Given the description of an element on the screen output the (x, y) to click on. 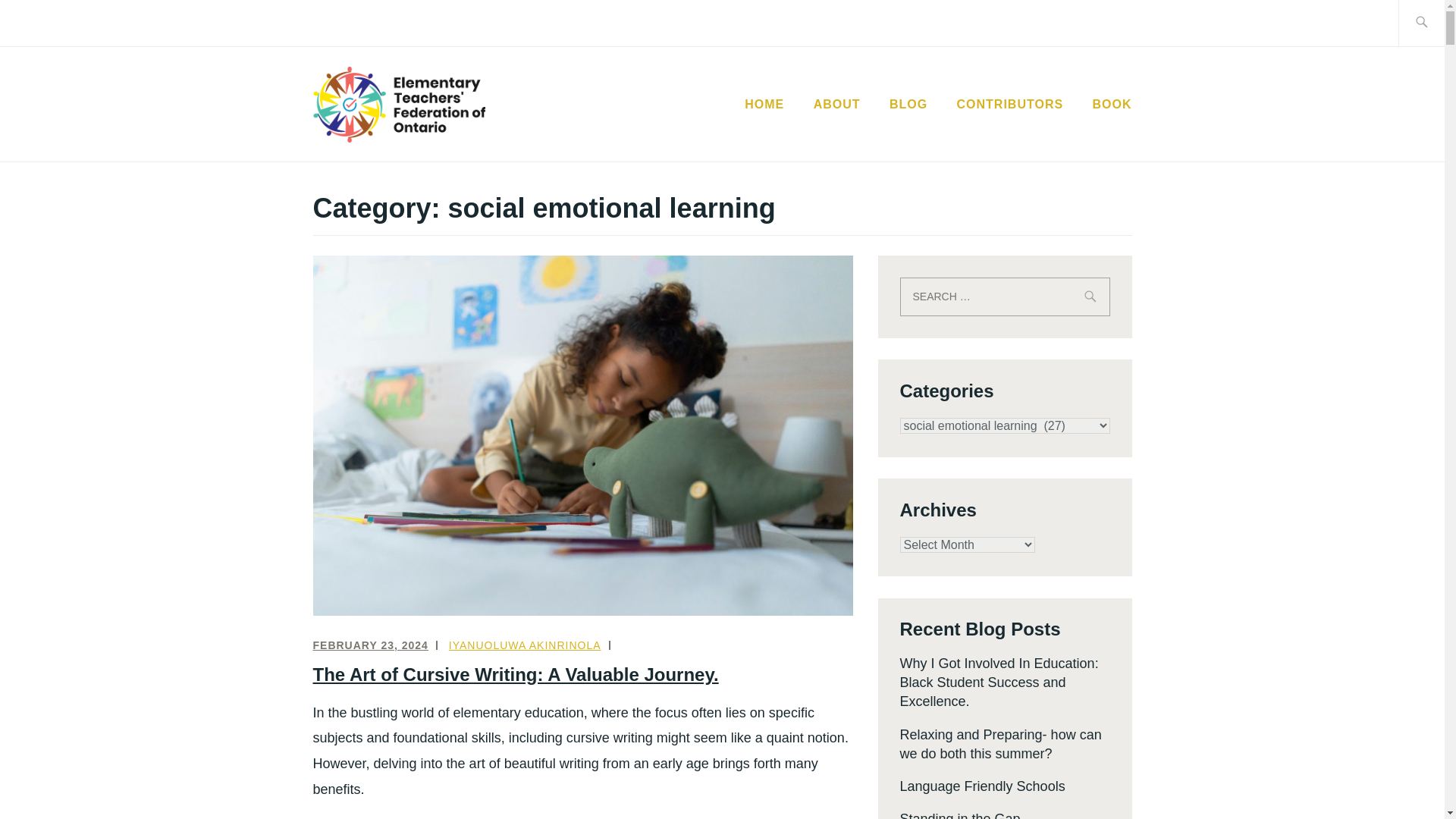
The Art of Cursive Writing: A Valuable Journey. (515, 674)
Welcome to the Heart and Art of Teaching and Learning (764, 104)
Search for: (1004, 296)
BLOG (908, 104)
BOOK (1111, 104)
CONTRIBUTORS (1010, 104)
Heart and Art Blog (908, 104)
Search (47, 22)
ABOUT (836, 104)
FEBRUARY 23, 2024 (370, 645)
